Given the description of an element on the screen output the (x, y) to click on. 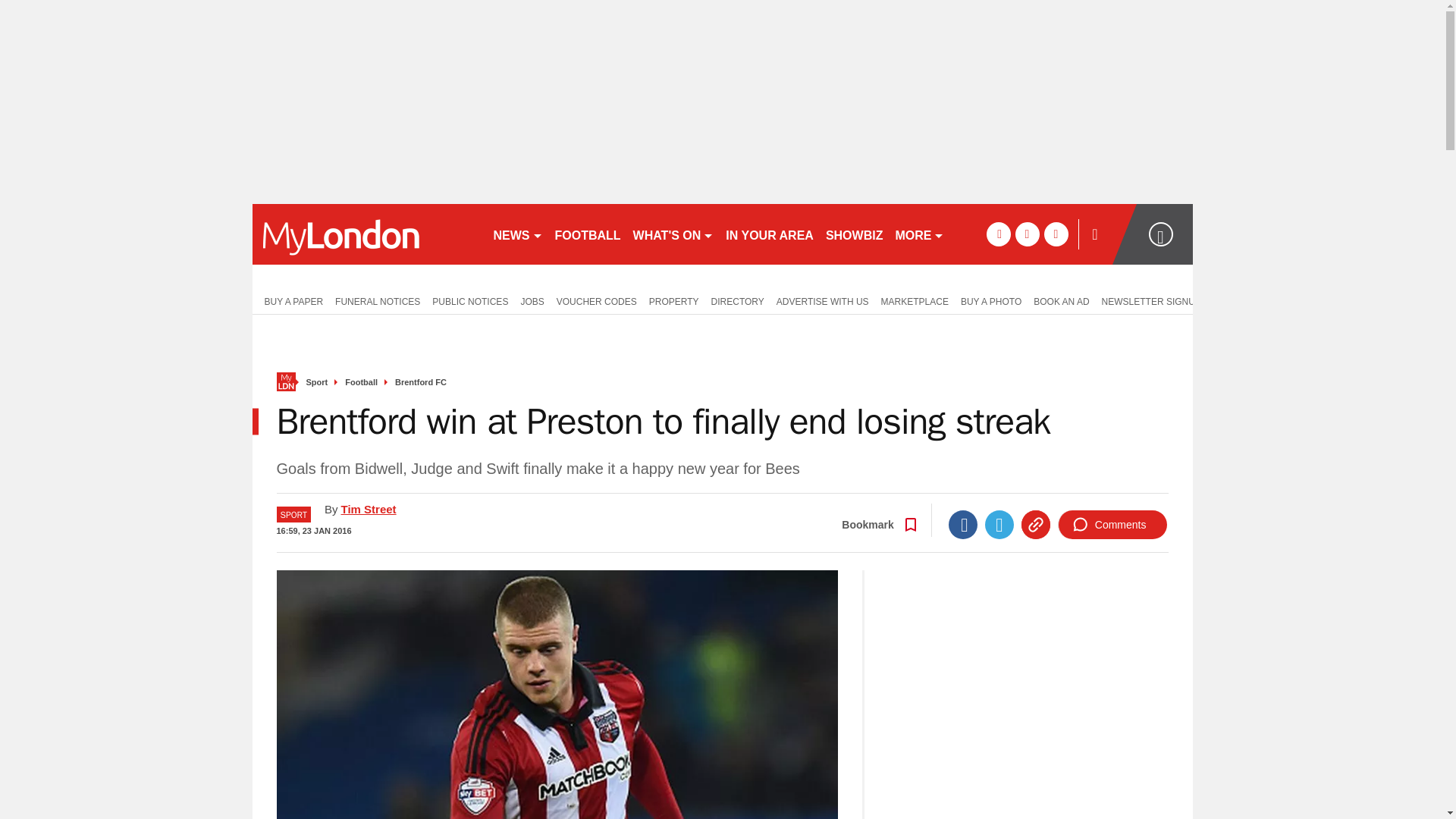
facebook (997, 233)
IN YOUR AREA (769, 233)
NEWS (517, 233)
SHOWBIZ (854, 233)
MORE (919, 233)
FOOTBALL (587, 233)
Twitter (999, 524)
twitter (1026, 233)
Facebook (962, 524)
WHAT'S ON (673, 233)
